Given the description of an element on the screen output the (x, y) to click on. 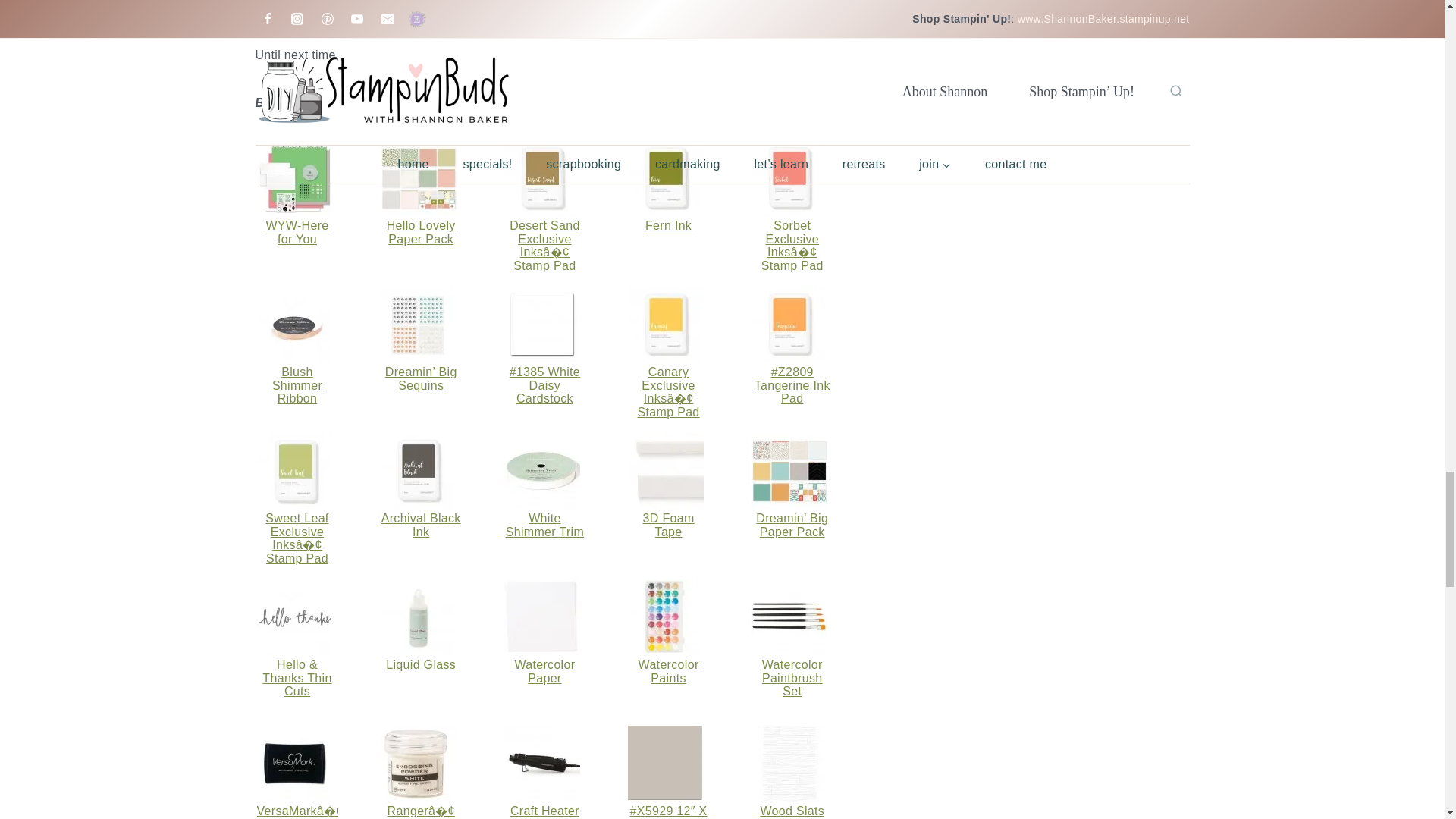
Blush Shimmer Ribbon (296, 384)
Blush Shimmer Ribbon (296, 324)
Hello Lovely Paper Pack (420, 178)
Dreamin' Big Sequins (420, 324)
Fern Ink (668, 225)
WYW-Here for You (296, 232)
Dreamin' Big Sequins (421, 378)
Hello Lovely Paper Pack (421, 232)
WYW-Here for You (296, 178)
Fern Ink (668, 178)
